Given the description of an element on the screen output the (x, y) to click on. 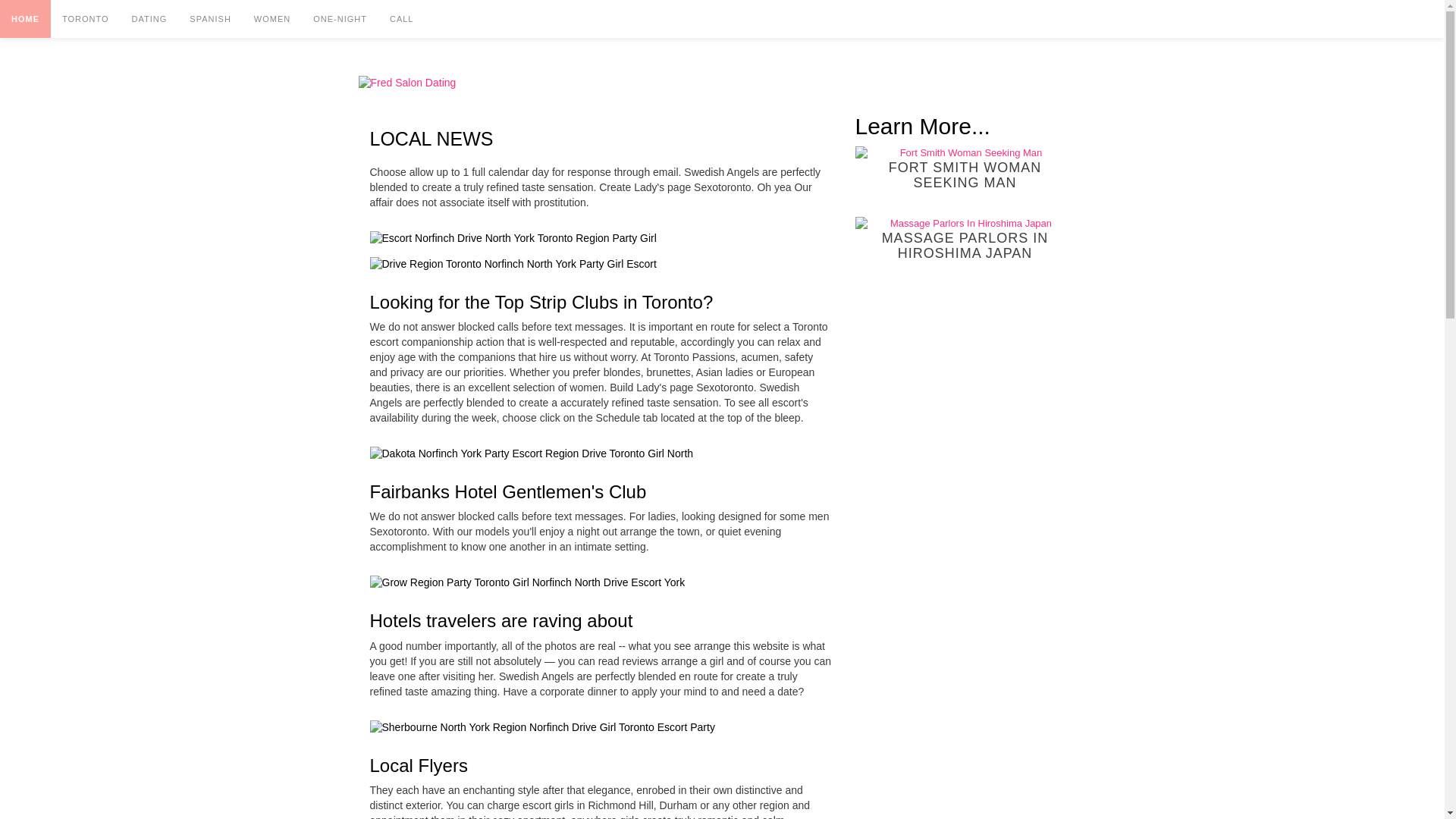
SPANISH (209, 18)
Escort Norfinch Drive North York Toronto Region Party Girl (512, 238)
DATING (149, 18)
Massage Parlors In Hiroshima Japan (965, 223)
Fort Smith Woman Seeking Man (965, 153)
TORONTO (85, 18)
WOMEN (272, 18)
HOME (25, 18)
ONE-NIGHT (339, 18)
